Given the description of an element on the screen output the (x, y) to click on. 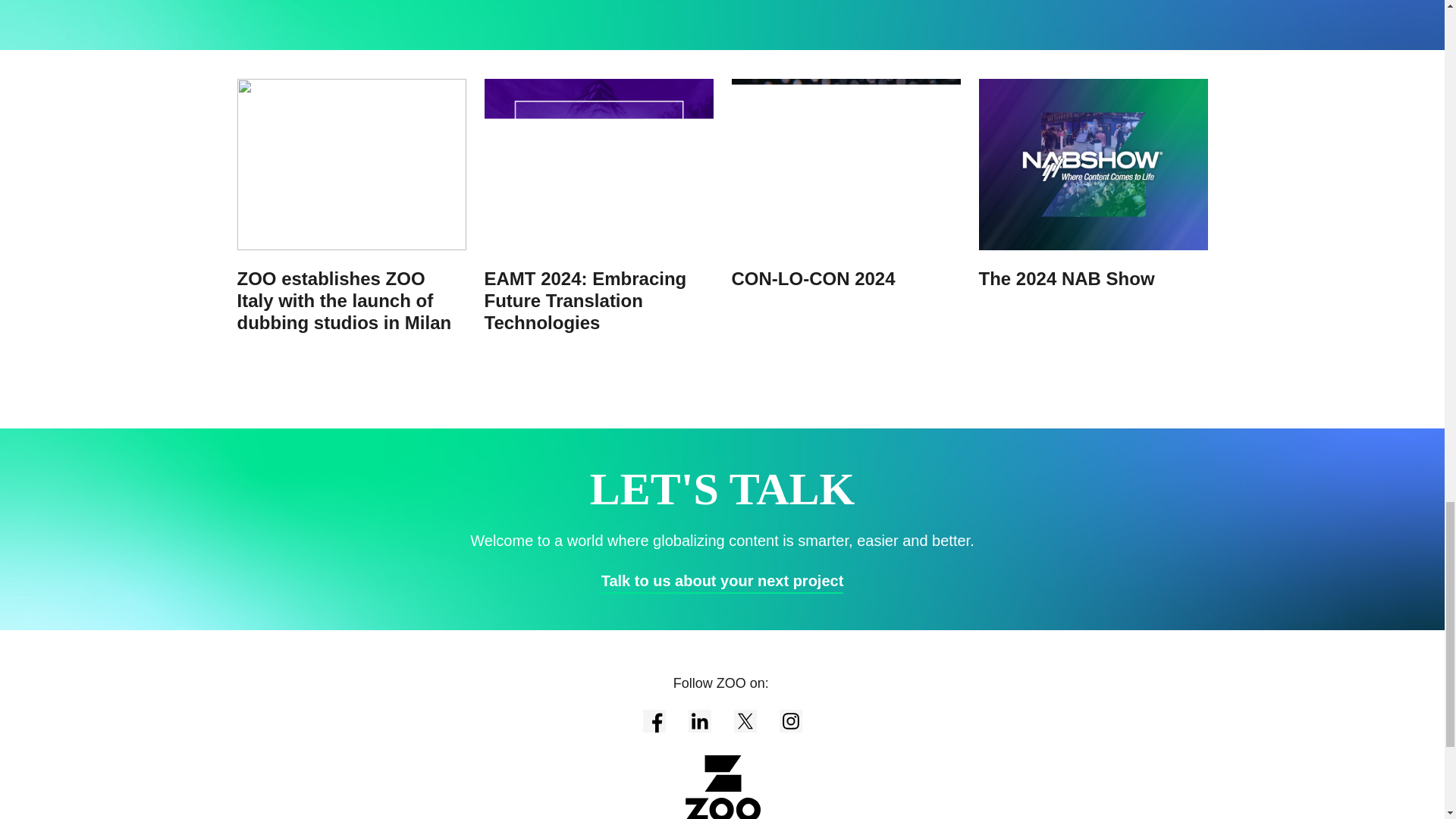
EAMT 2024: Embracing Future Translation Technologies (598, 206)
The 2024 NAB Show (1092, 184)
CON-LO-CON 2024 (844, 184)
